Given the description of an element on the screen output the (x, y) to click on. 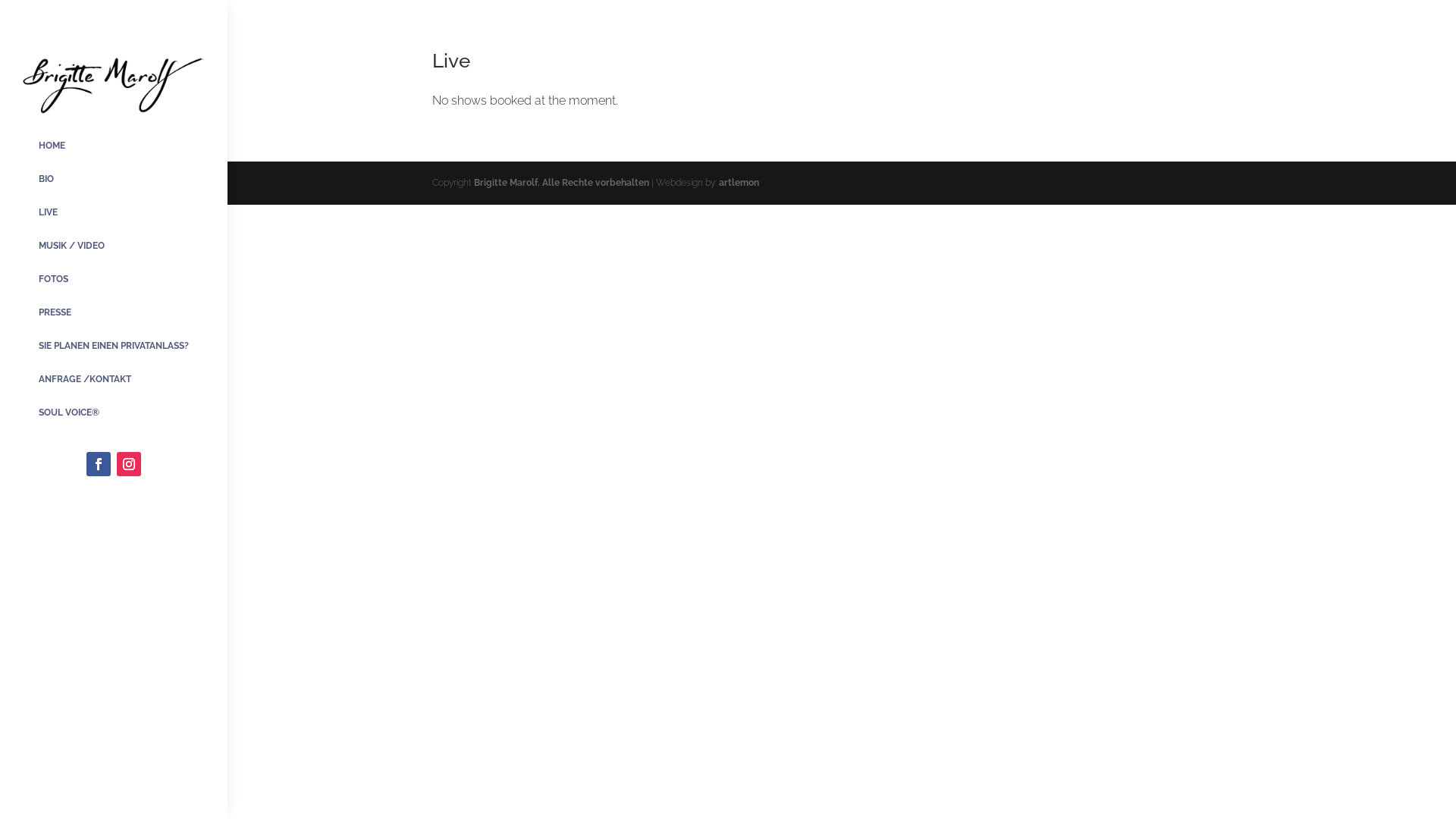
FOTOS Element type: text (113, 278)
PRESSE Element type: text (113, 312)
BIO Element type: text (113, 178)
MUSIK / VIDEO Element type: text (113, 245)
Folge auf Instagram Element type: hover (128, 463)
ANFRAGE /KONTAKT Element type: text (113, 379)
artlemon Element type: text (738, 182)
Brigitte Marolf. Alle Rechte vorbehalten Element type: text (562, 182)
LIVE Element type: text (113, 212)
HOME Element type: text (113, 145)
Folge auf Facebook Element type: hover (98, 463)
SIE PLANEN EINEN PRIVATANLASS? Element type: text (113, 345)
